Given the description of an element on the screen output the (x, y) to click on. 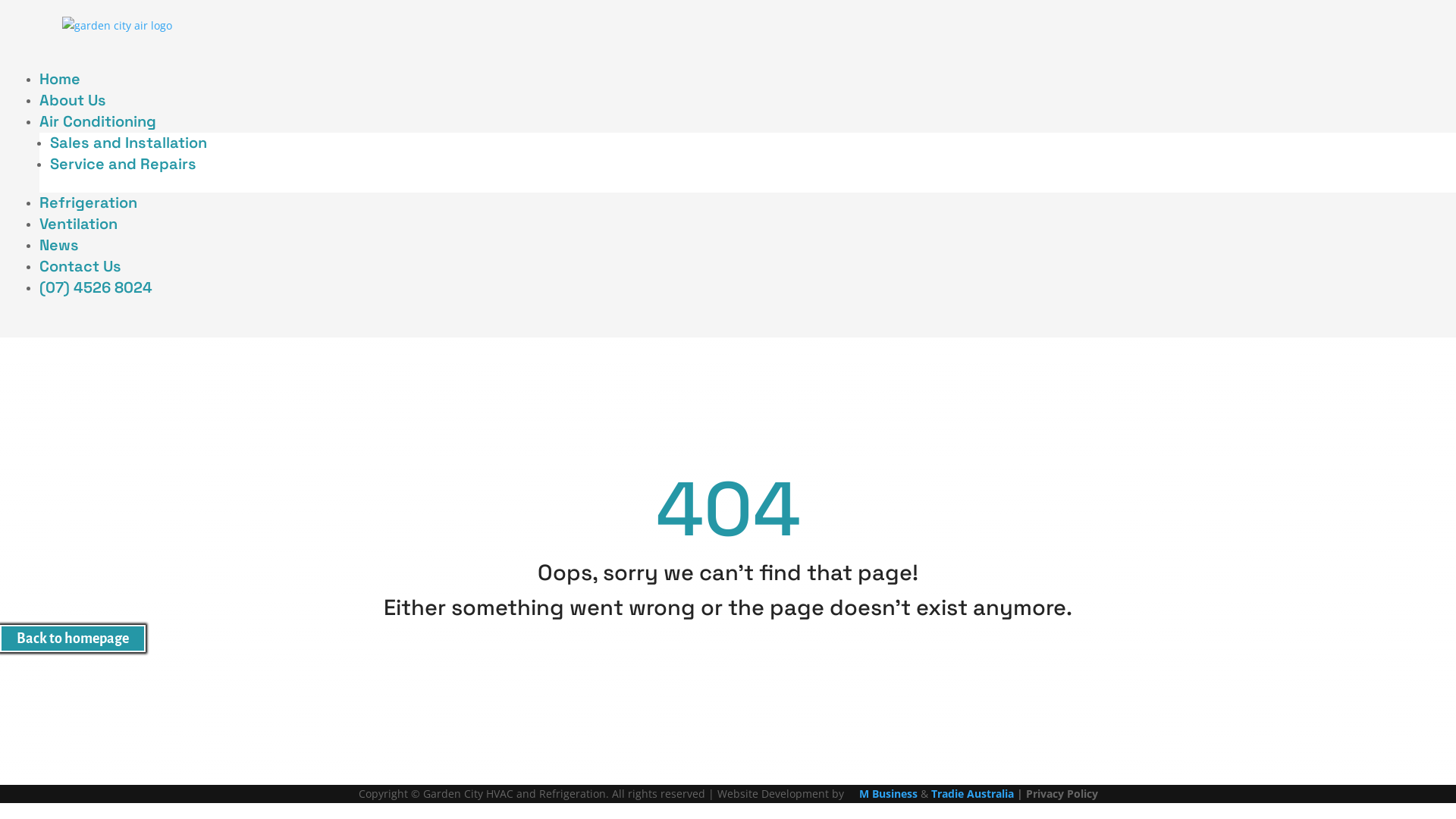
(07) 4526 8024 Element type: text (95, 287)
Tradie Element type: text (947, 793)
Refrigeration Element type: text (88, 202)
News Element type: text (58, 244)
Back to homepage Element type: text (72, 638)
Service and Repairs Element type: text (123, 163)
Australia Element type: text (988, 793)
M Business Element type: text (887, 793)
Sales and Installation Element type: text (128, 142)
Ventilation Element type: text (78, 223)
Air Conditioning Element type: text (97, 121)
Contact Us Element type: text (80, 266)
fulllogo_transparent_nobuffer Element type: hover (117, 25)
About Us Element type: text (72, 99)
Home Element type: text (59, 78)
